Given the description of an element on the screen output the (x, y) to click on. 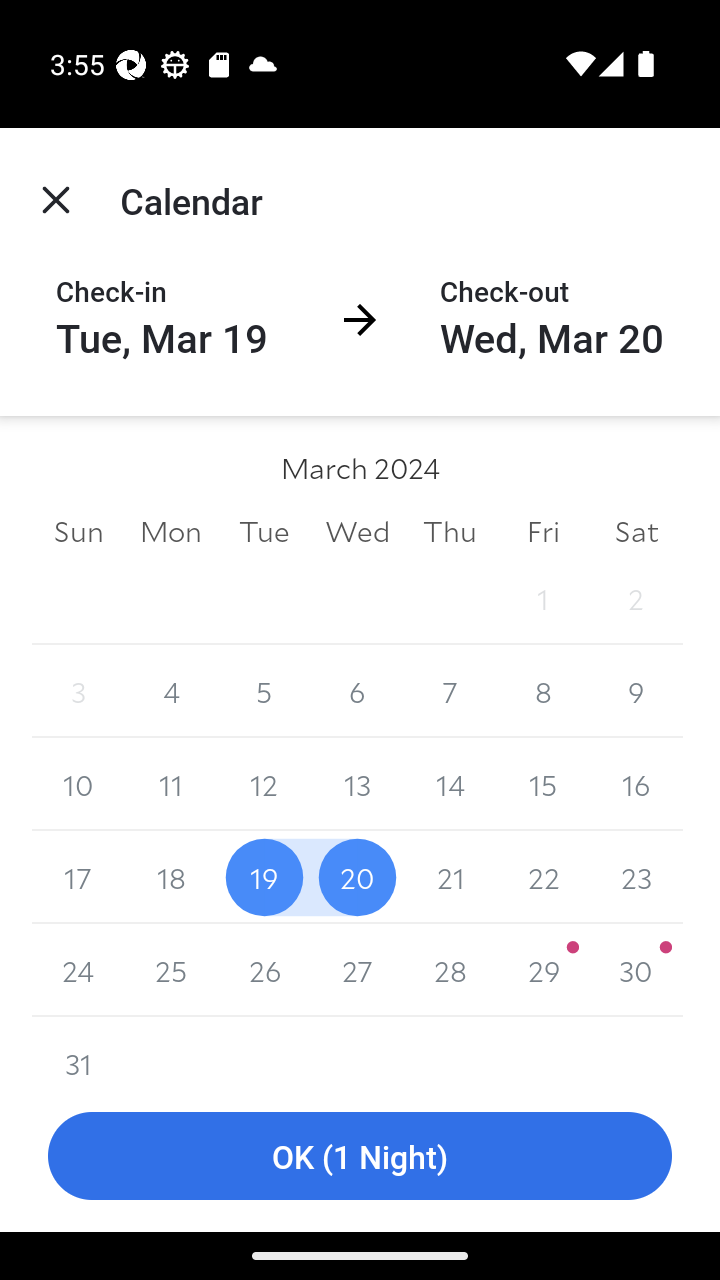
Sun (78, 530)
Mon (171, 530)
Tue (264, 530)
Wed (357, 530)
Thu (449, 530)
Fri (542, 530)
Sat (636, 530)
1 1 March 2024 (542, 598)
2 2 March 2024 (636, 598)
3 3 March 2024 (78, 691)
4 4 March 2024 (171, 691)
5 5 March 2024 (264, 691)
6 6 March 2024 (357, 691)
7 7 March 2024 (449, 691)
8 8 March 2024 (542, 691)
9 9 March 2024 (636, 691)
10 10 March 2024 (78, 784)
11 11 March 2024 (171, 784)
12 12 March 2024 (264, 784)
13 13 March 2024 (357, 784)
14 14 March 2024 (449, 784)
15 15 March 2024 (542, 784)
16 16 March 2024 (636, 784)
17 17 March 2024 (78, 877)
18 18 March 2024 (171, 877)
19 19 March 2024 (264, 877)
20 20 March 2024 (357, 877)
21 21 March 2024 (449, 877)
22 22 March 2024 (542, 877)
23 23 March 2024 (636, 877)
24 24 March 2024 (78, 970)
25 25 March 2024 (171, 970)
26 26 March 2024 (264, 970)
27 27 March 2024 (357, 970)
28 28 March 2024 (449, 970)
29 29 March 2024 (542, 970)
30 30 March 2024 (636, 970)
31 31 March 2024 (78, 1048)
OK (1 Night) (359, 1156)
